Given the description of an element on the screen output the (x, y) to click on. 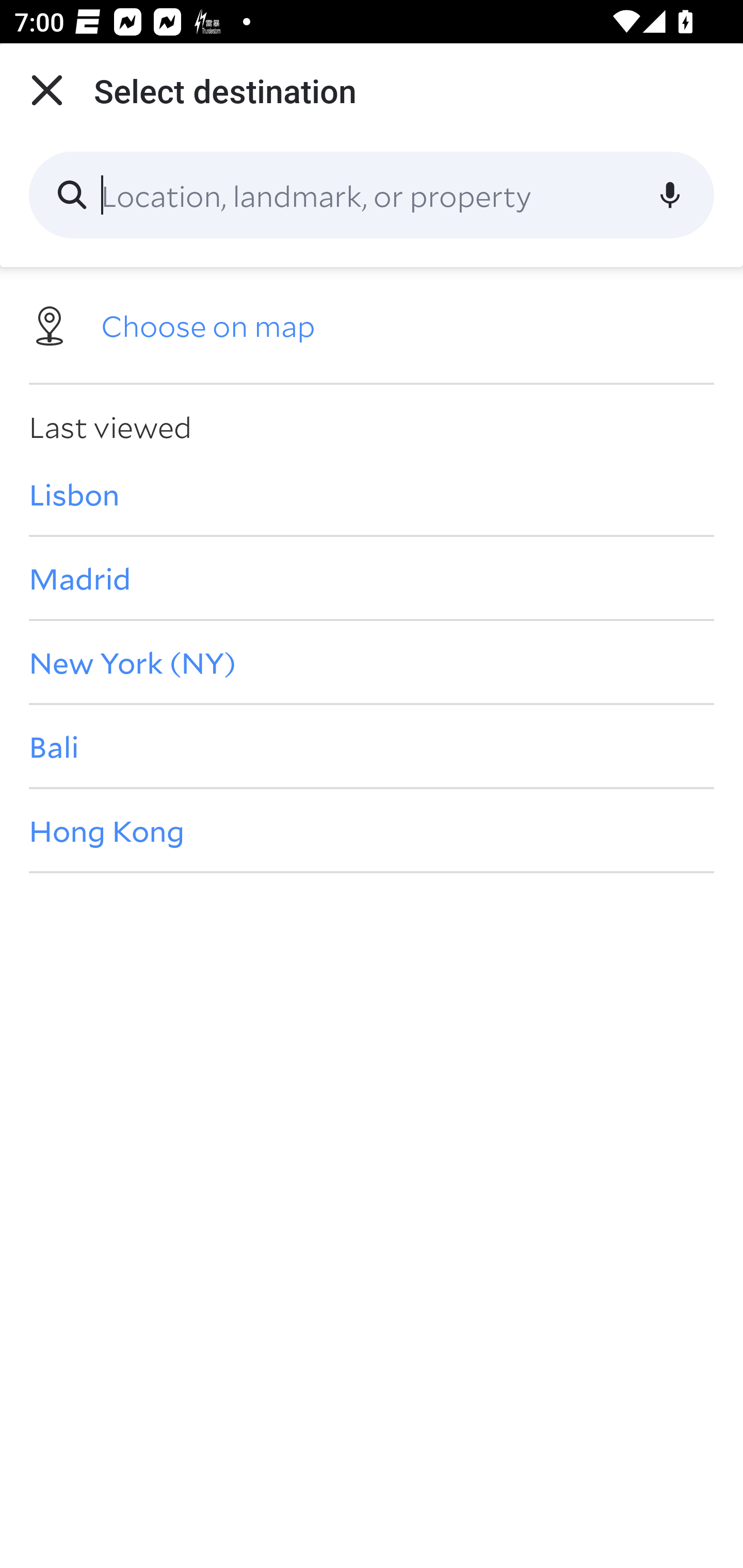
Location, landmark, or property (371, 195)
Choose on map (371, 324)
Lisbon (371, 493)
Madrid (371, 577)
New York (NY) (371, 661)
Bali (371, 746)
Hong Kong (371, 829)
